Given the description of an element on the screen output the (x, y) to click on. 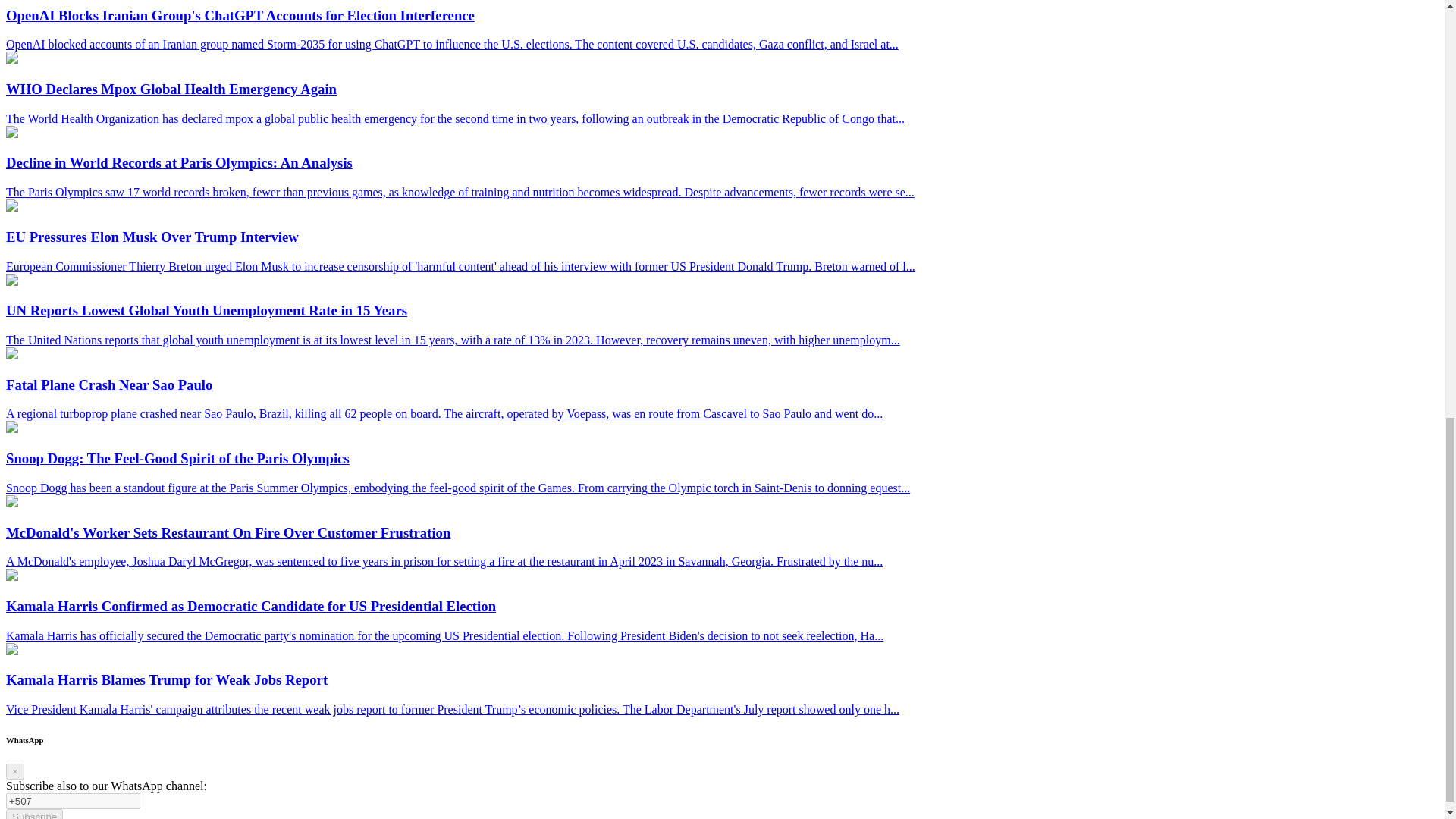
WHO Declares Mpox Global Health Emergency Again (11, 59)
EU Pressures Elon Musk Over Trump Interview (11, 206)
UN Reports Lowest Global Youth Unemployment Rate in 15 Years (11, 281)
Snoop Dogg: The Feel-Good Spirit of the Paris Olympics (11, 428)
Fatal Plane Crash Near Sao Paulo (11, 354)
Decline in World Records at Paris Olympics: An Analysis (11, 133)
